Given the description of an element on the screen output the (x, y) to click on. 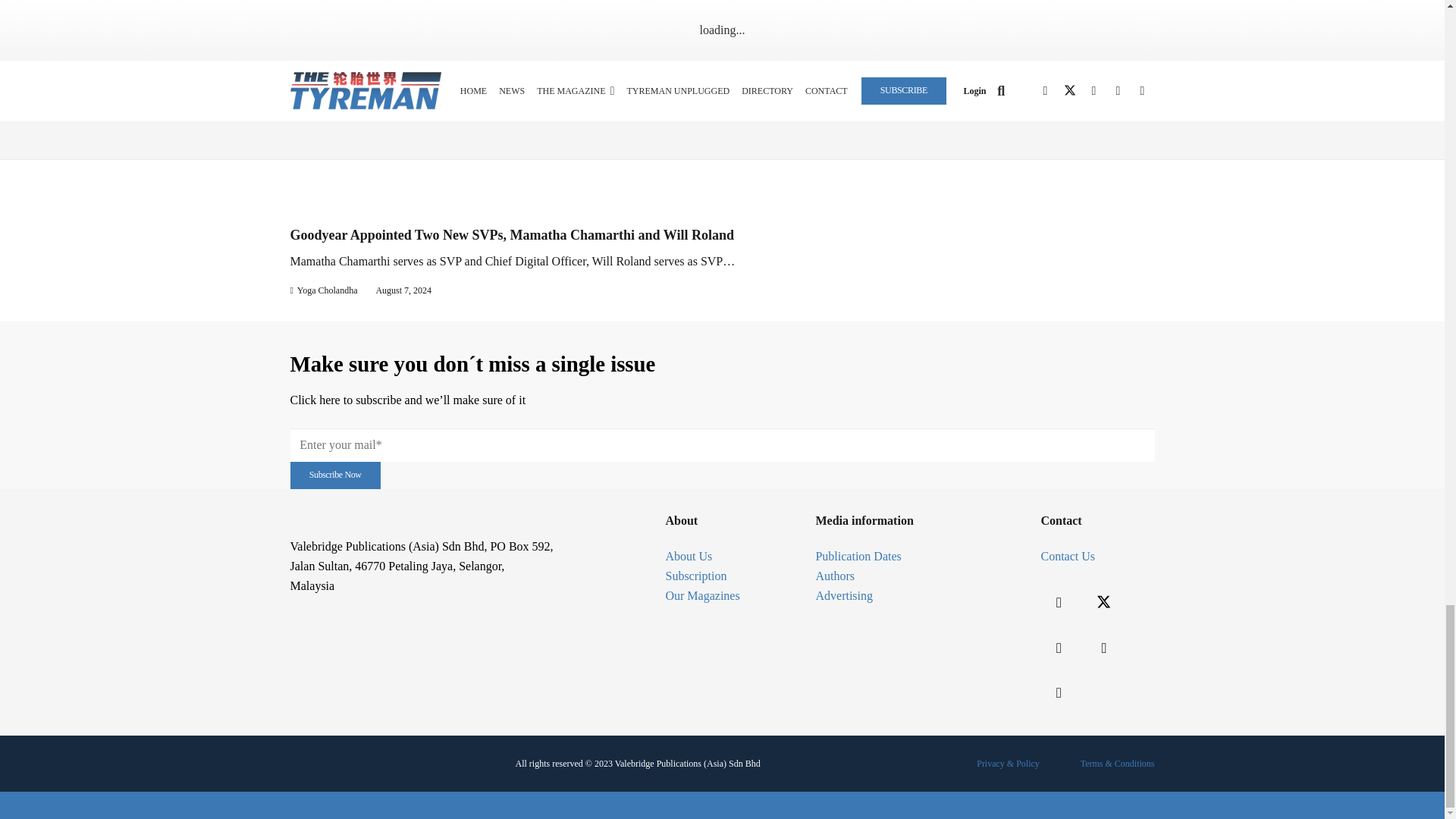
YouTube (1104, 647)
WhatsApp (1059, 692)
Twitter (1104, 602)
LinkedIn (1059, 647)
Facebook (1059, 602)
Subscribe Now (334, 474)
